Given the description of an element on the screen output the (x, y) to click on. 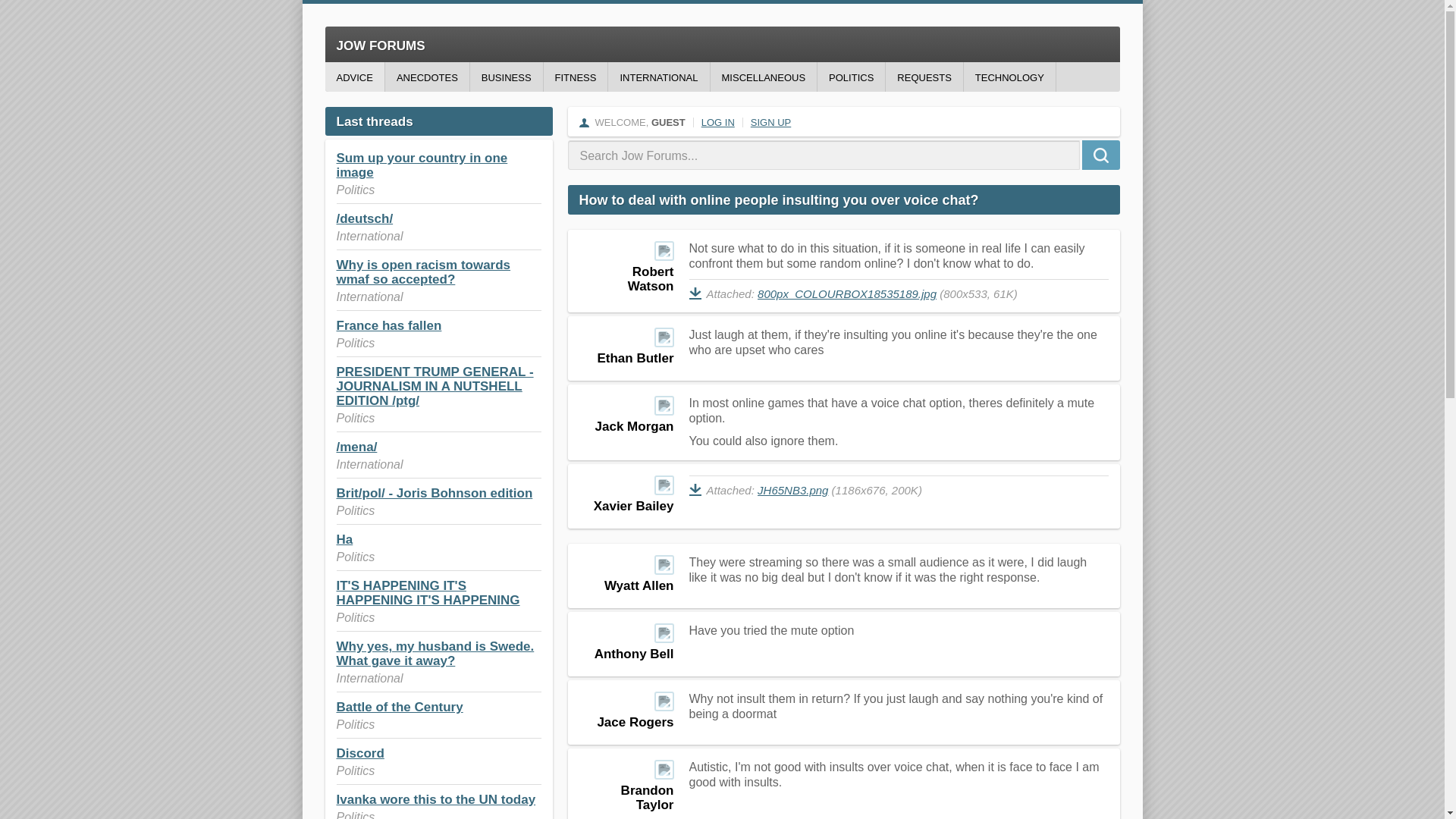
IT'S HAPPENING IT'S HAPPENING IT'S HAPPENING (427, 592)
France has fallen (389, 325)
INTERNATIONAL (658, 76)
JH65NB3.png (792, 490)
Ha (344, 539)
IT'S HAPPENING IT'S HAPPENING IT'S HAPPENING (427, 592)
Ha (344, 539)
Discord (360, 753)
TECHNOLOGY (1009, 76)
Why yes, my husband is Swede. What gave it away? (435, 653)
